Given the description of an element on the screen output the (x, y) to click on. 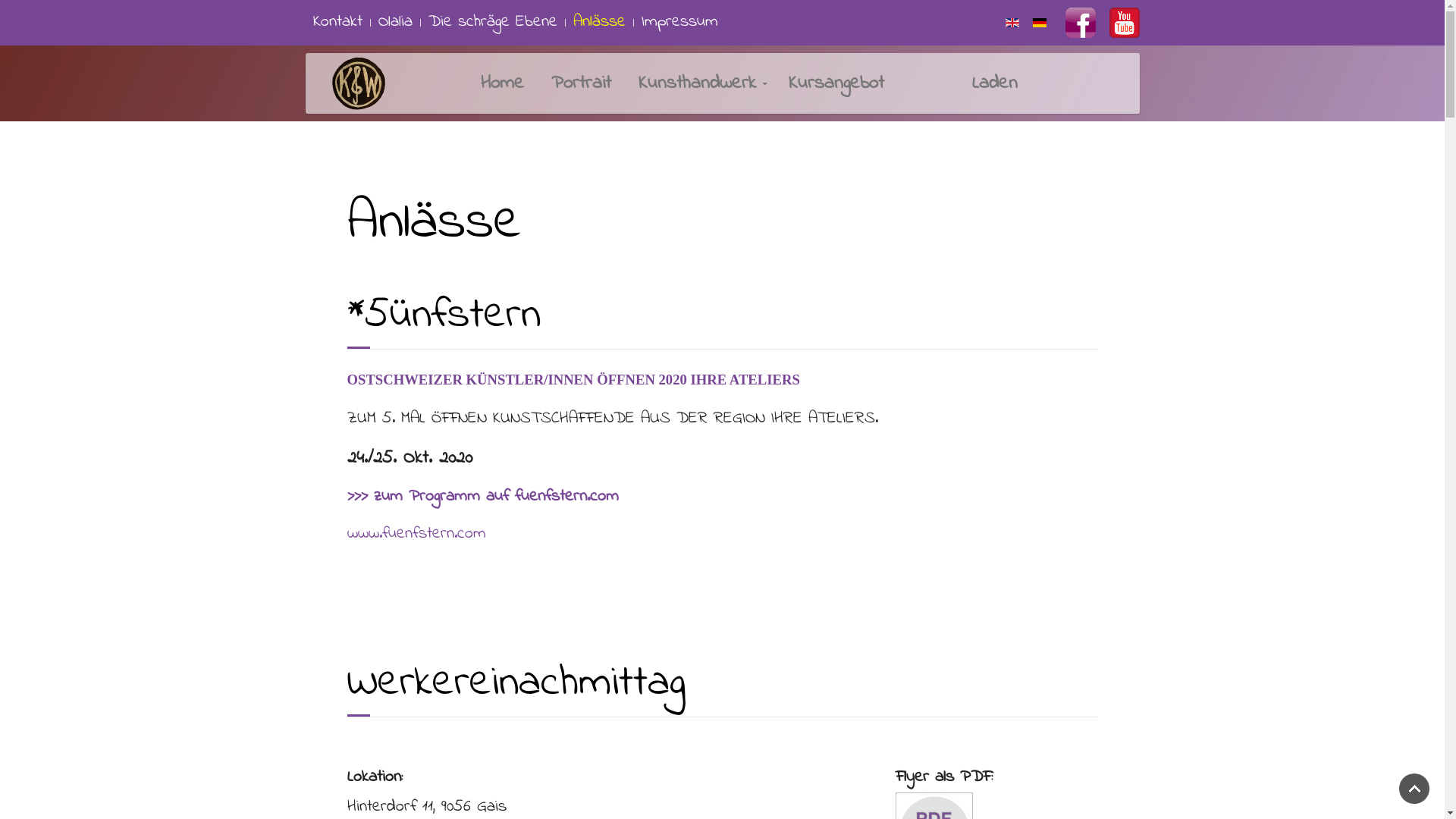
Folge mir auf YouTube Element type: hover (1123, 22)
Deutsch (Deutschland) Element type: hover (1039, 22)
Laden Element type: text (964, 83)
Portrait Element type: text (580, 83)
Werkereinachmittag Element type: text (516, 683)
Kontakt Element type: text (336, 22)
Impressum Element type: text (679, 22)
Facebook folgen Element type: hover (1072, 21)
Facebook folgen Element type: hover (1079, 22)
Kunsthandwerk Element type: text (699, 83)
Folge mir auf YouTube Element type: hover (1120, 21)
Kursangebot Element type: text (836, 83)
Olalia Element type: text (394, 22)
www.fuenfstern.com Element type: text (416, 533)
>>> zum Programm auf fuenfstern.com Element type: text (482, 496)
Home Element type: text (502, 83)
English (United Kingdom) Element type: hover (1012, 22)
